Given the description of an element on the screen output the (x, y) to click on. 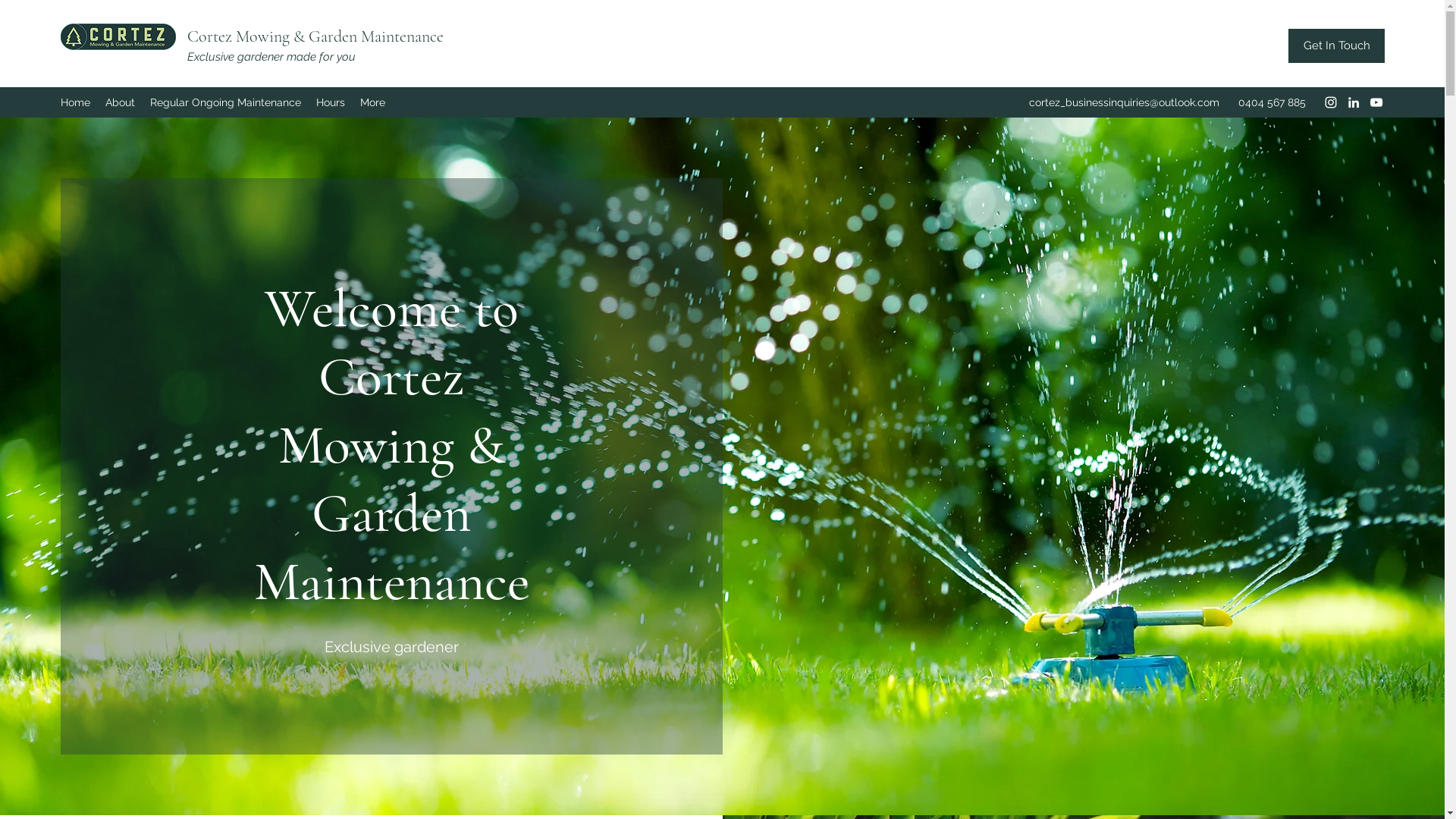
Regular Ongoing Maintenance Element type: text (225, 102)
cortez_businessinquiries@outlook.com Element type: text (1124, 102)
About Element type: text (119, 102)
Hours Element type: text (330, 102)
Home Element type: text (75, 102)
Cortez Mowing & Garden Maintenance Element type: text (315, 36)
Get In Touch Element type: text (1336, 45)
